Given the description of an element on the screen output the (x, y) to click on. 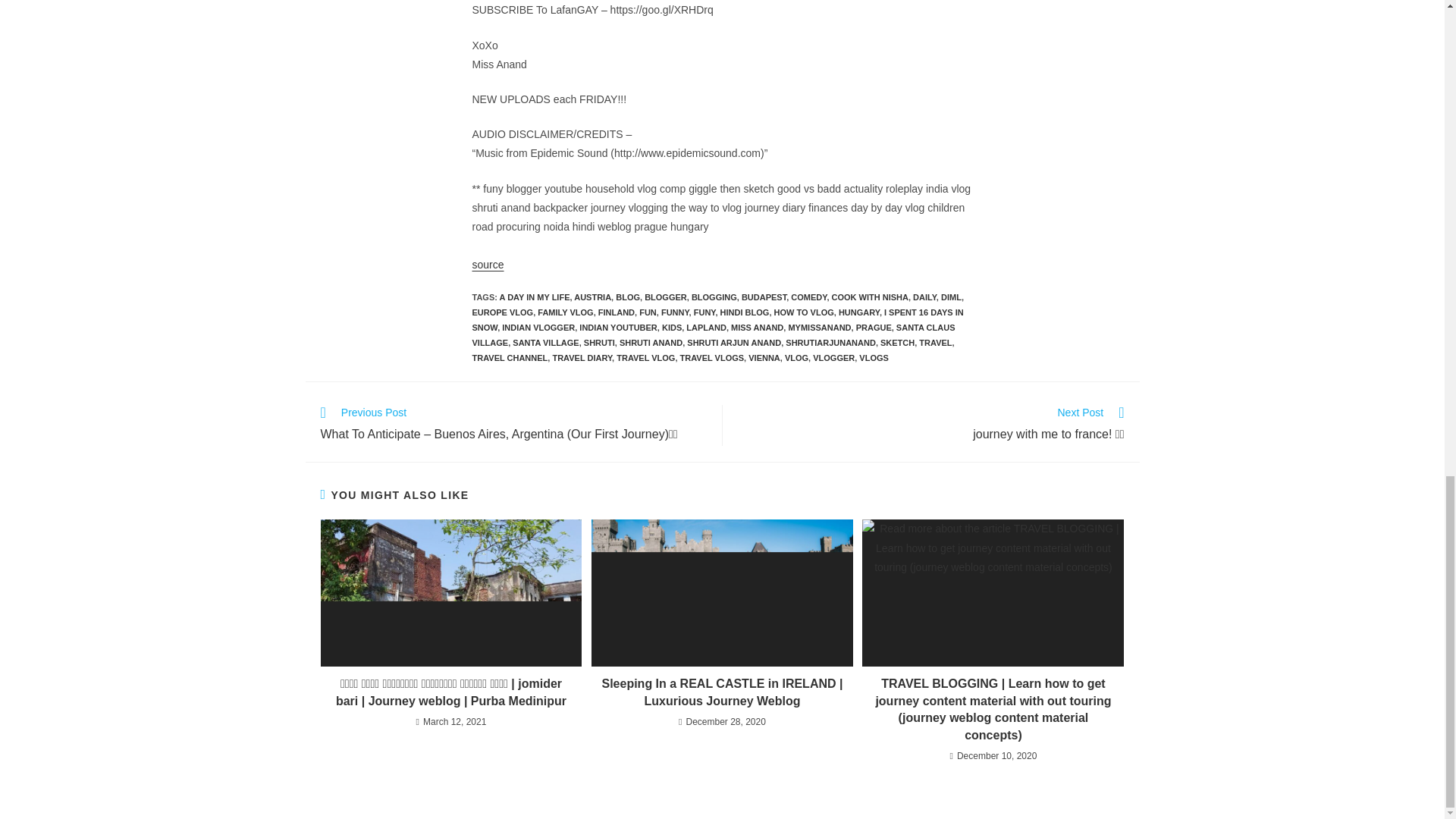
BLOG (627, 297)
COOK WITH NISHA (869, 297)
A DAY IN MY LIFE (534, 297)
BUDAPEST (763, 297)
source (487, 264)
AUSTRIA (592, 297)
BLOGGER (666, 297)
BLOGGING (713, 297)
COMEDY (808, 297)
